Given the description of an element on the screen output the (x, y) to click on. 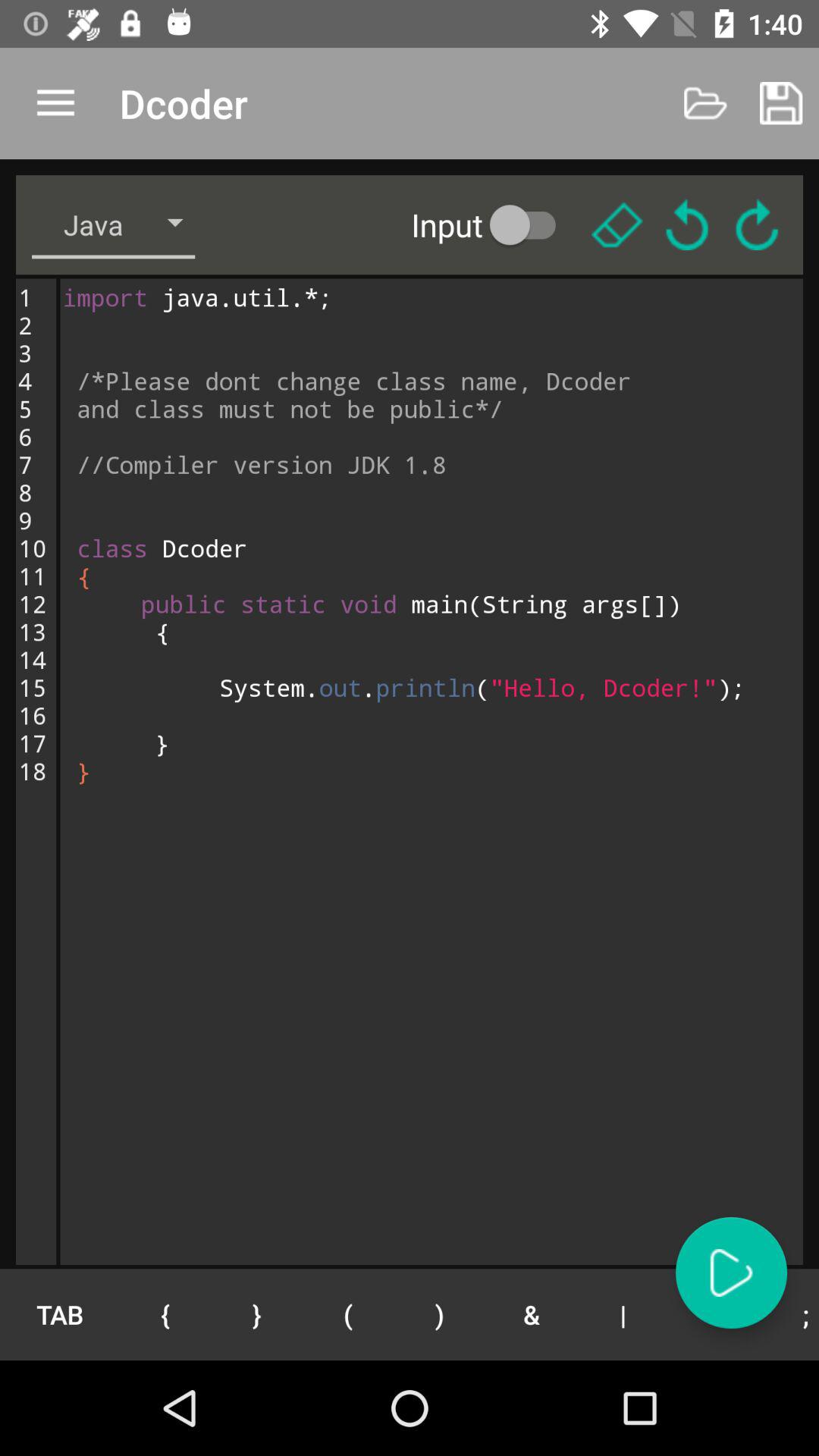
choose the button to the right of { item (256, 1314)
